Given the description of an element on the screen output the (x, y) to click on. 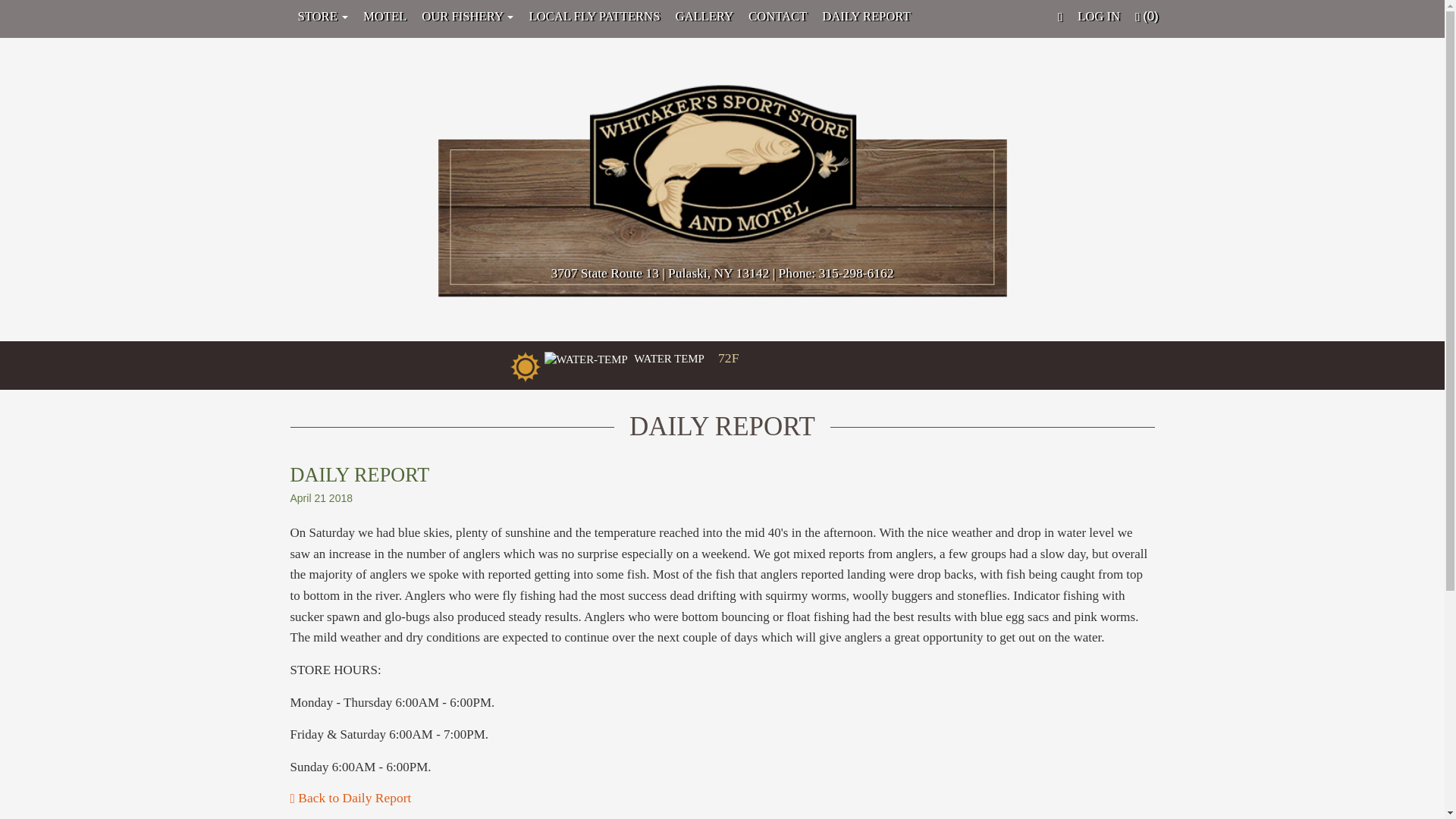
Motel (384, 15)
MOTEL (384, 15)
GALLERY (703, 15)
Gallery (703, 15)
Daily Report (865, 15)
Local Fly Patterns (593, 15)
STORE (322, 15)
Contact (777, 15)
DAILY REPORT (865, 15)
LOG IN (1098, 15)
